Given the description of an element on the screen output the (x, y) to click on. 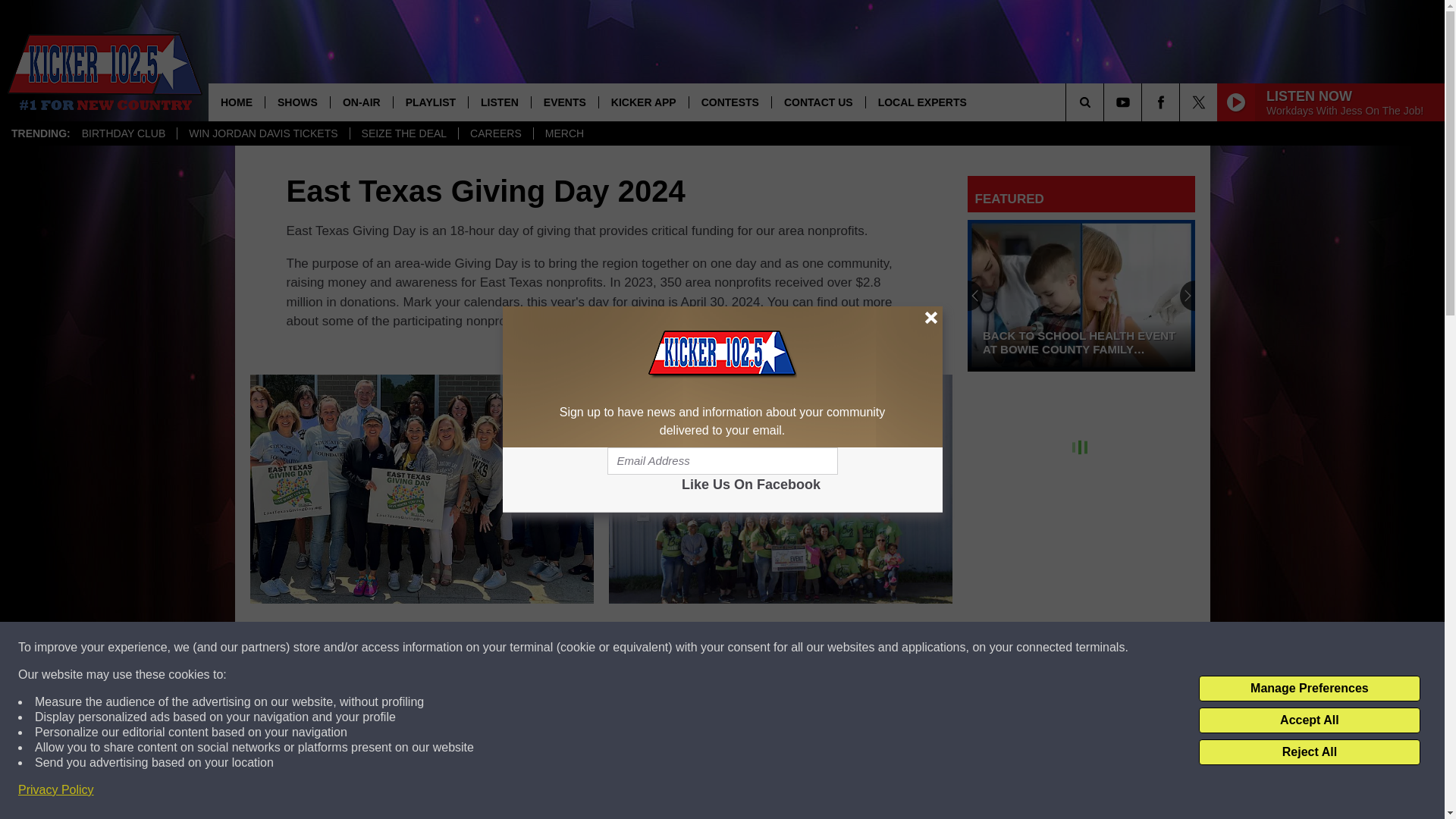
PLAYLIST (430, 102)
KICKER APP (643, 102)
SEIZE THE DEAL (403, 133)
HOME (236, 102)
CAREERS (495, 133)
Manage Preferences (1309, 688)
SHOWS (297, 102)
SEARCH (1106, 102)
ON-AIR (361, 102)
LISTEN (499, 102)
Email Address (722, 461)
CONTESTS (729, 102)
EVENTS (564, 102)
Accept All (1309, 720)
Privacy Policy (55, 789)
